Given the description of an element on the screen output the (x, y) to click on. 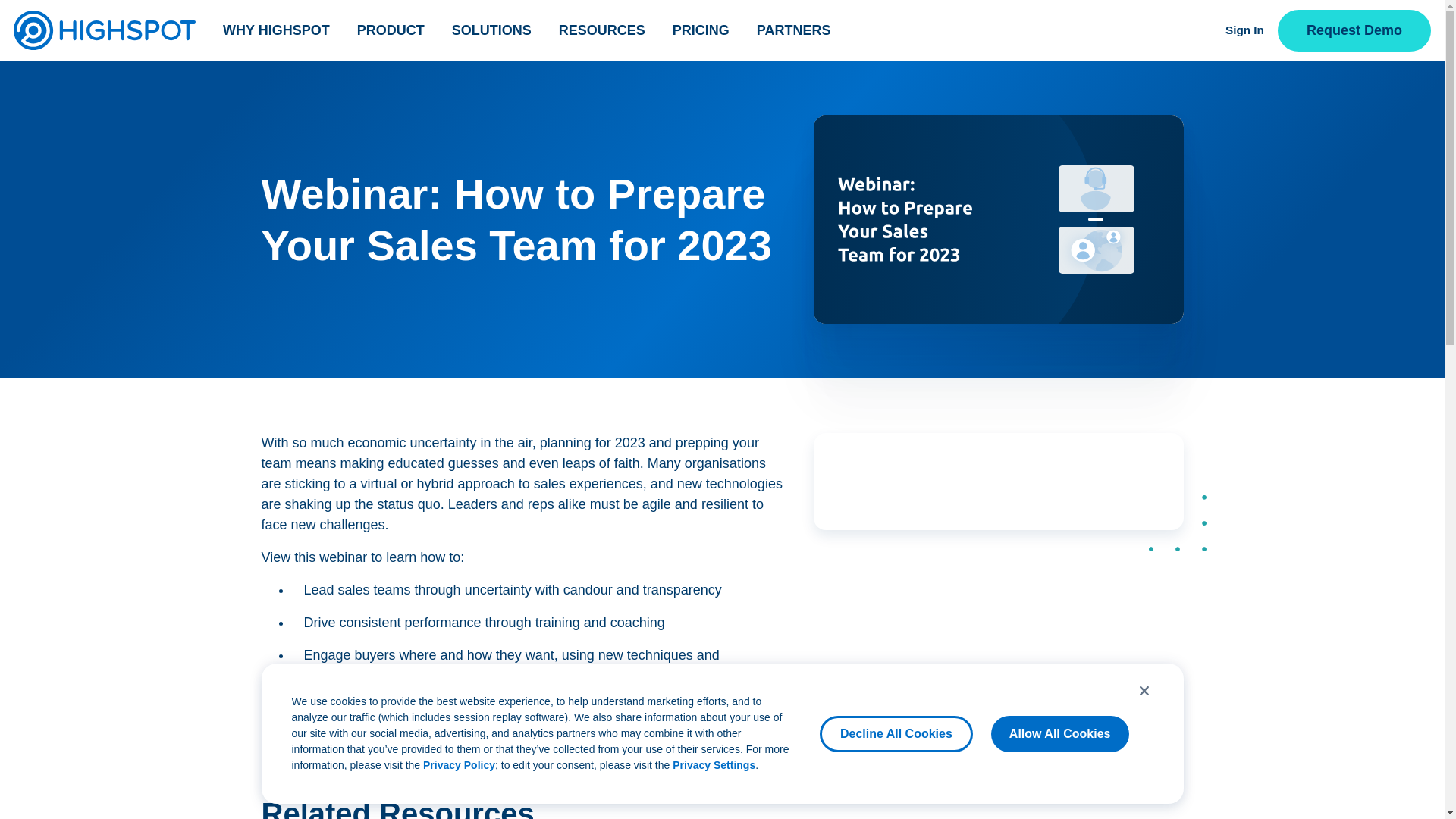
Privacy Policy (459, 765)
Decline All Cookies (895, 733)
Allow All Cookies (1060, 733)
Privacy Settings (713, 765)
